Given the description of an element on the screen output the (x, y) to click on. 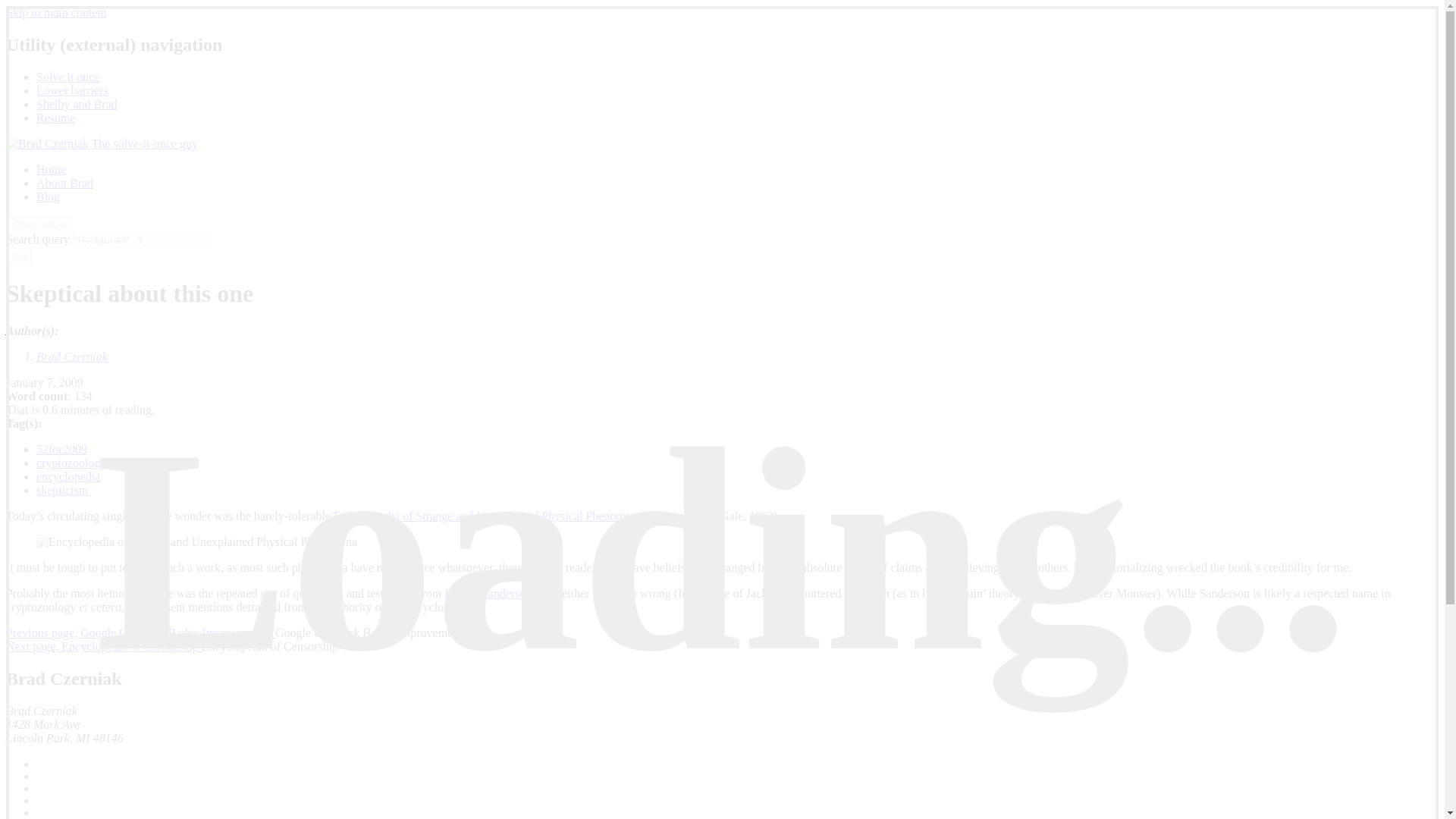
Encyclopedia of Strange and Unexplained Physical Phenomena (487, 515)
encyclopedia (68, 476)
skepticism (61, 490)
Previous page, Google Chatback Badge Improvements (140, 632)
Skip to main content (55, 11)
Home (50, 818)
About Brad (64, 182)
Home (50, 169)
Lower barriers (71, 90)
52for2009 (61, 449)
Resume (55, 117)
Go (18, 255)
Open below (38, 223)
The solve-it-once guy (101, 143)
Blog (47, 196)
